Given the description of an element on the screen output the (x, y) to click on. 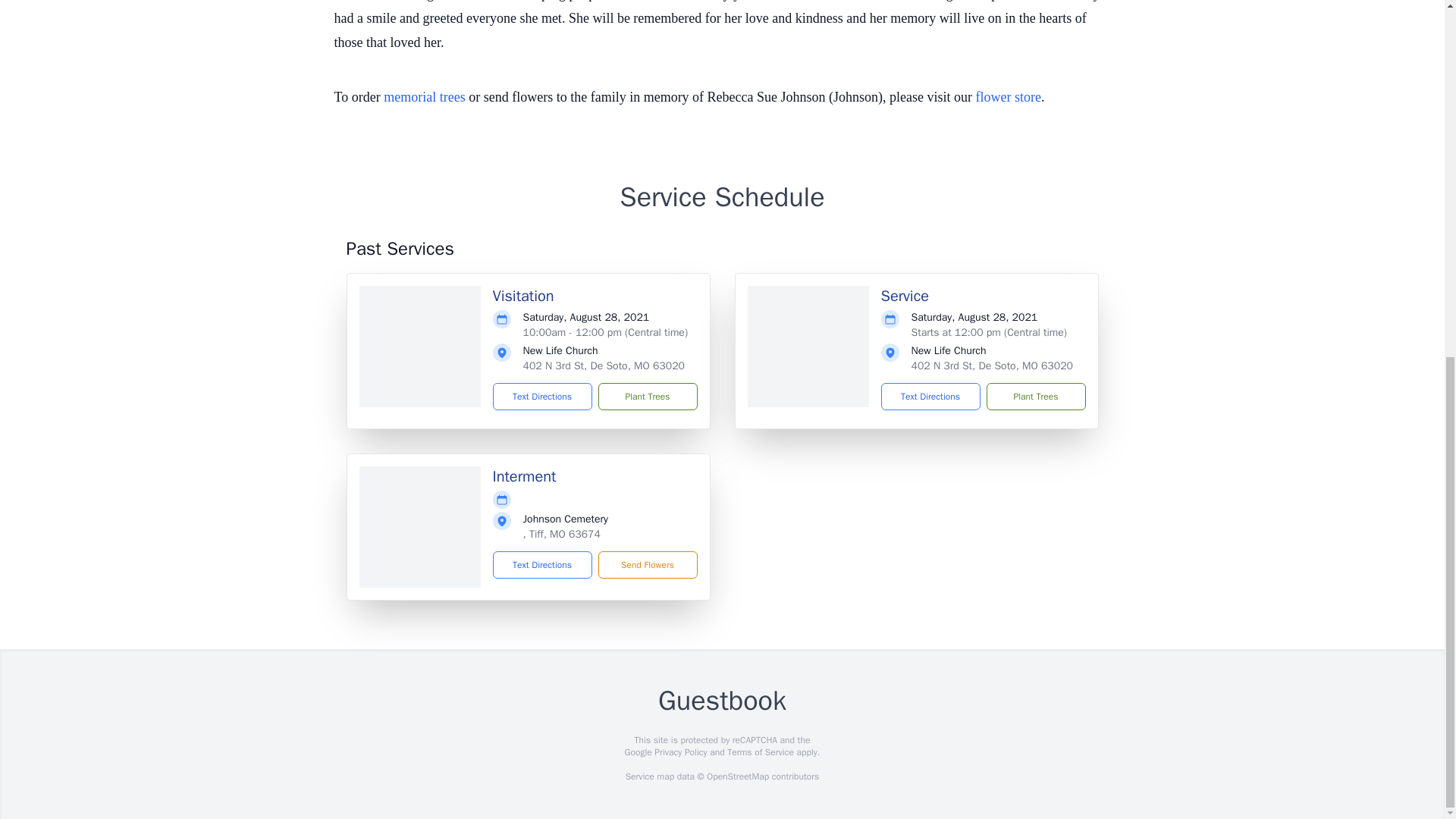
Text Directions (929, 396)
, Tiff, MO 63674 (560, 533)
402 N 3rd St, De Soto, MO 63020 (603, 365)
OpenStreetMap (737, 776)
Text Directions (542, 564)
Terms of Service (759, 752)
flower store (1008, 96)
Plant Trees (646, 396)
memorial trees (424, 96)
Privacy Policy (679, 752)
Send Flowers (646, 564)
402 N 3rd St, De Soto, MO 63020 (992, 365)
Plant Trees (1034, 396)
Text Directions (542, 396)
